Given the description of an element on the screen output the (x, y) to click on. 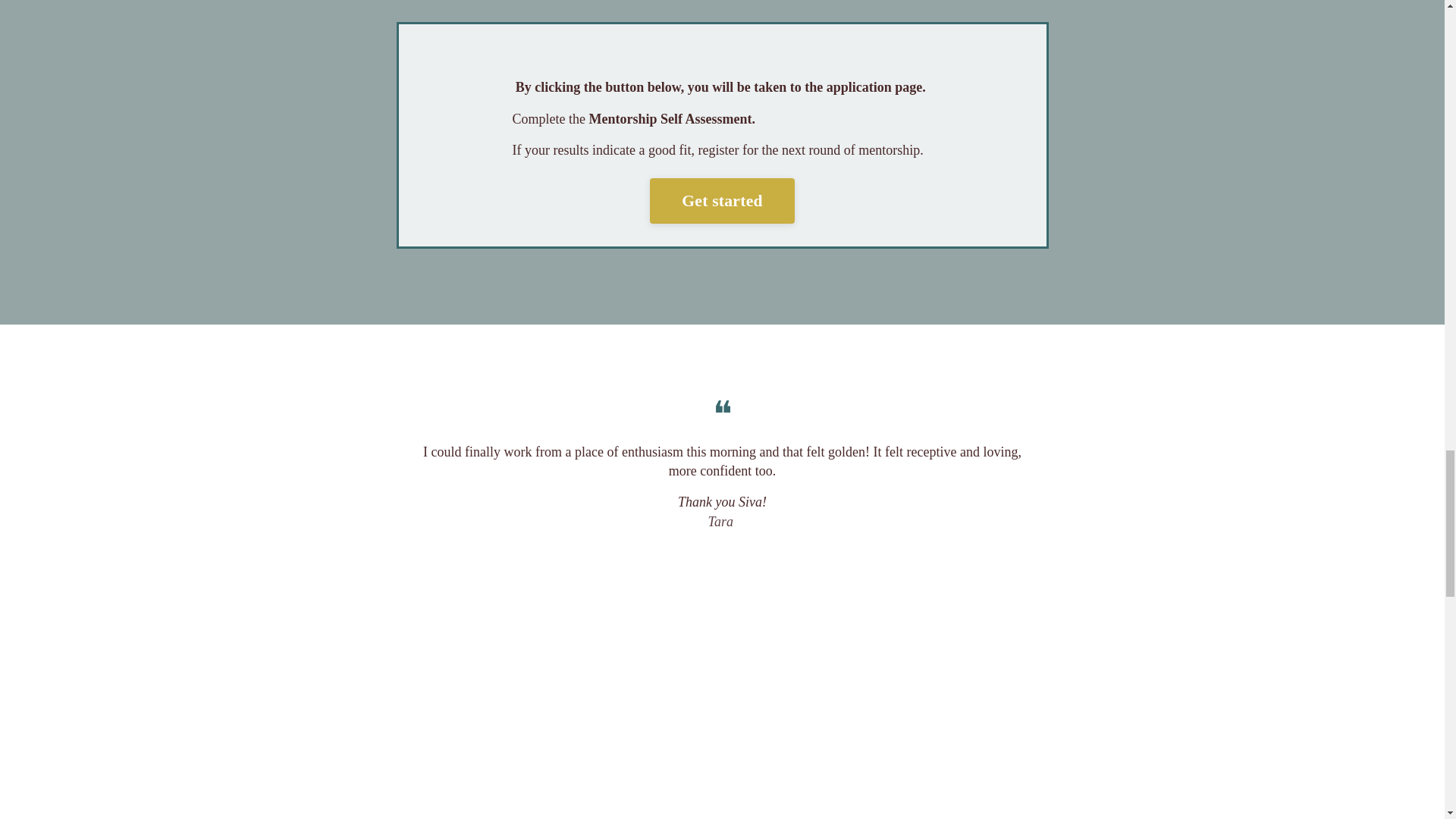
Get started (721, 200)
